Given the description of an element on the screen output the (x, y) to click on. 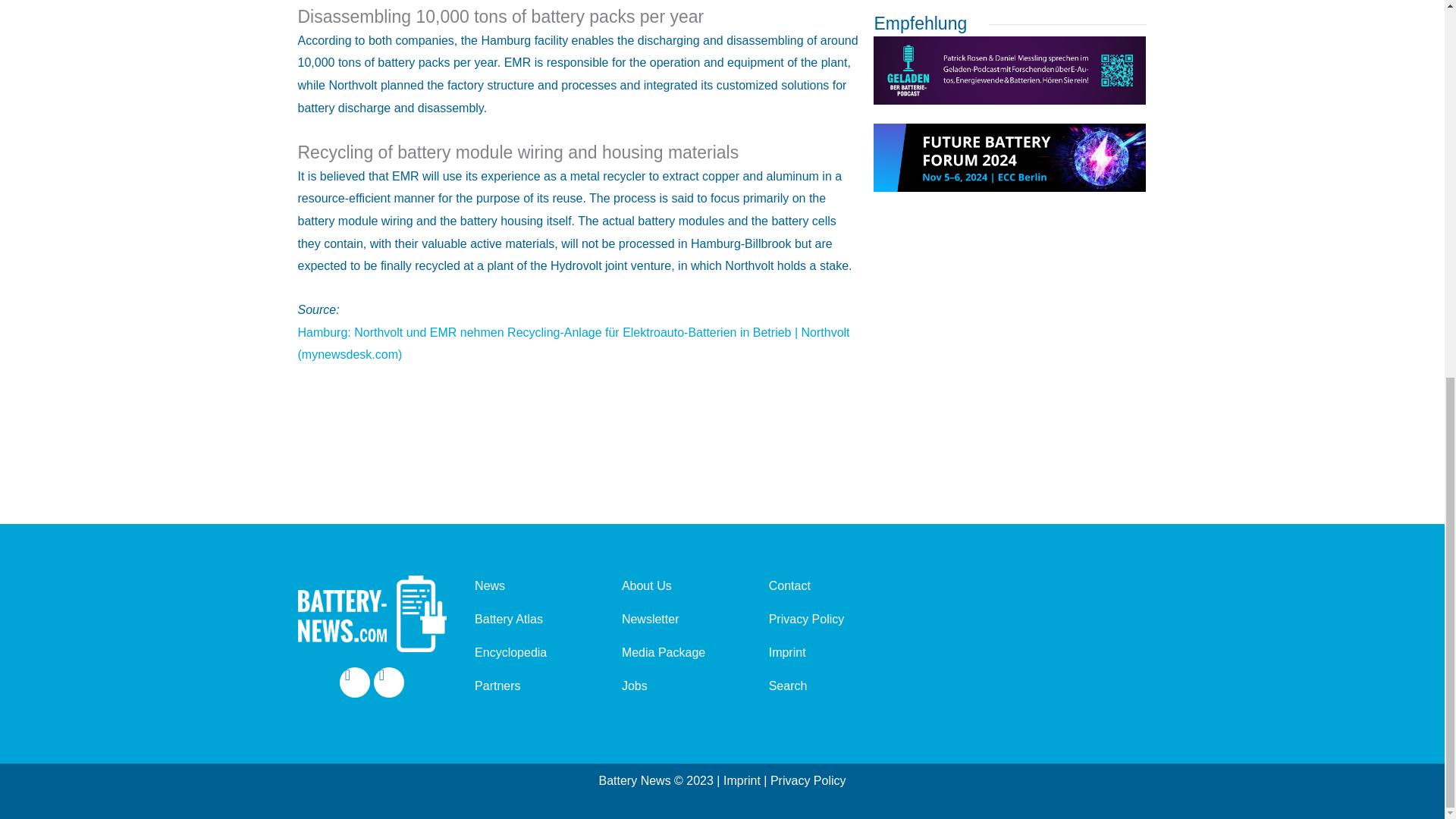
Partners (527, 685)
Twitter (389, 682)
Linkedin (354, 682)
Encyclopedia (527, 652)
Battery Atlas (527, 619)
News (527, 585)
